Given the description of an element on the screen output the (x, y) to click on. 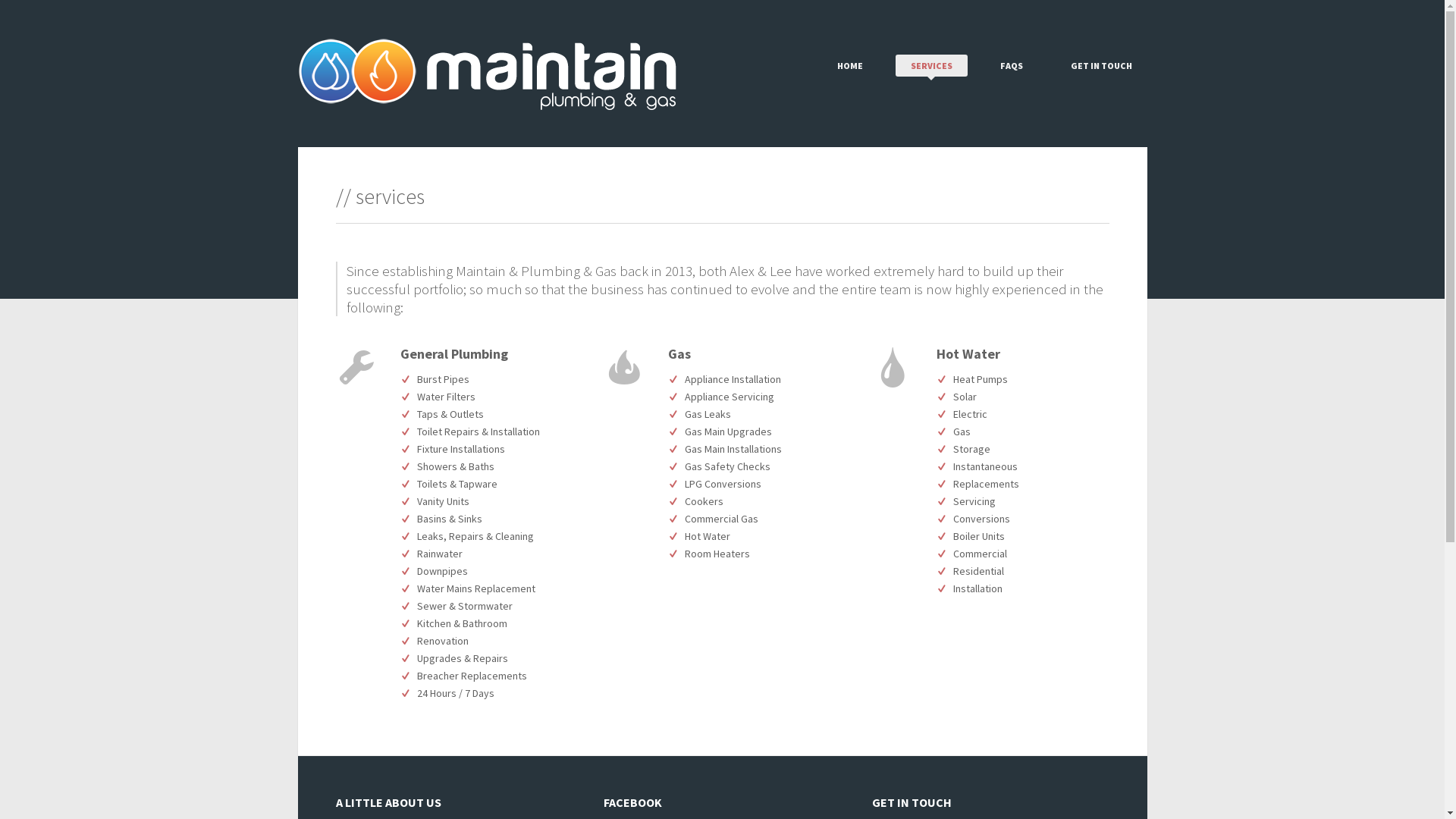
HOME Element type: text (850, 65)
SERVICES Element type: text (930, 65)
GET IN TOUCH Element type: text (1101, 65)
FAQS Element type: text (1010, 65)
